Given the description of an element on the screen output the (x, y) to click on. 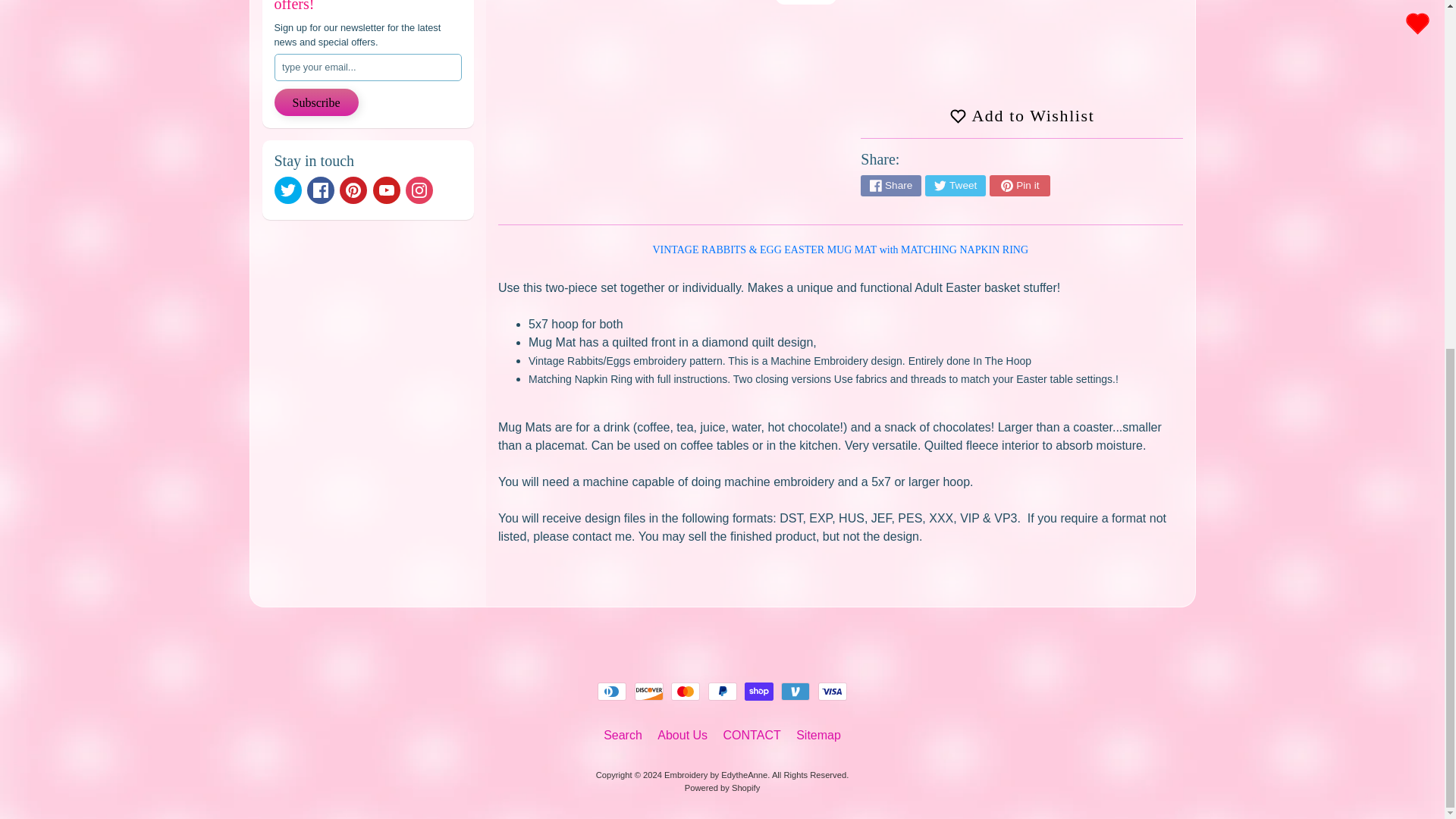
Twitter (288, 189)
Mastercard (685, 691)
Shop Pay (758, 691)
Facebook (320, 189)
Tweet on Twitter (954, 185)
Pinterest (352, 189)
Youtube (386, 189)
Discover (648, 691)
Share on Facebook (890, 185)
Instagram (419, 189)
